Given the description of an element on the screen output the (x, y) to click on. 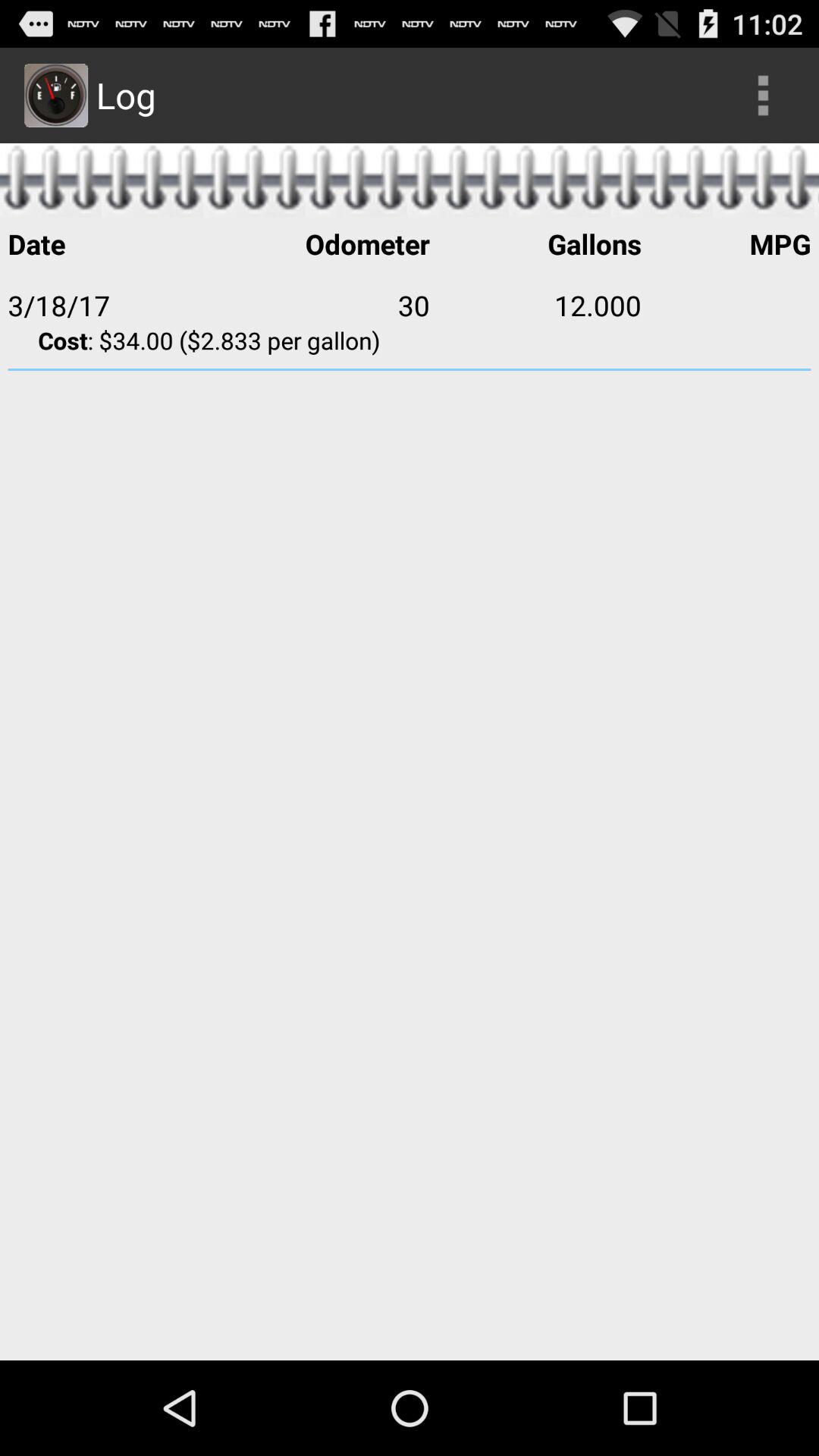
open the app to the right of 12.000 (726, 305)
